Given the description of an element on the screen output the (x, y) to click on. 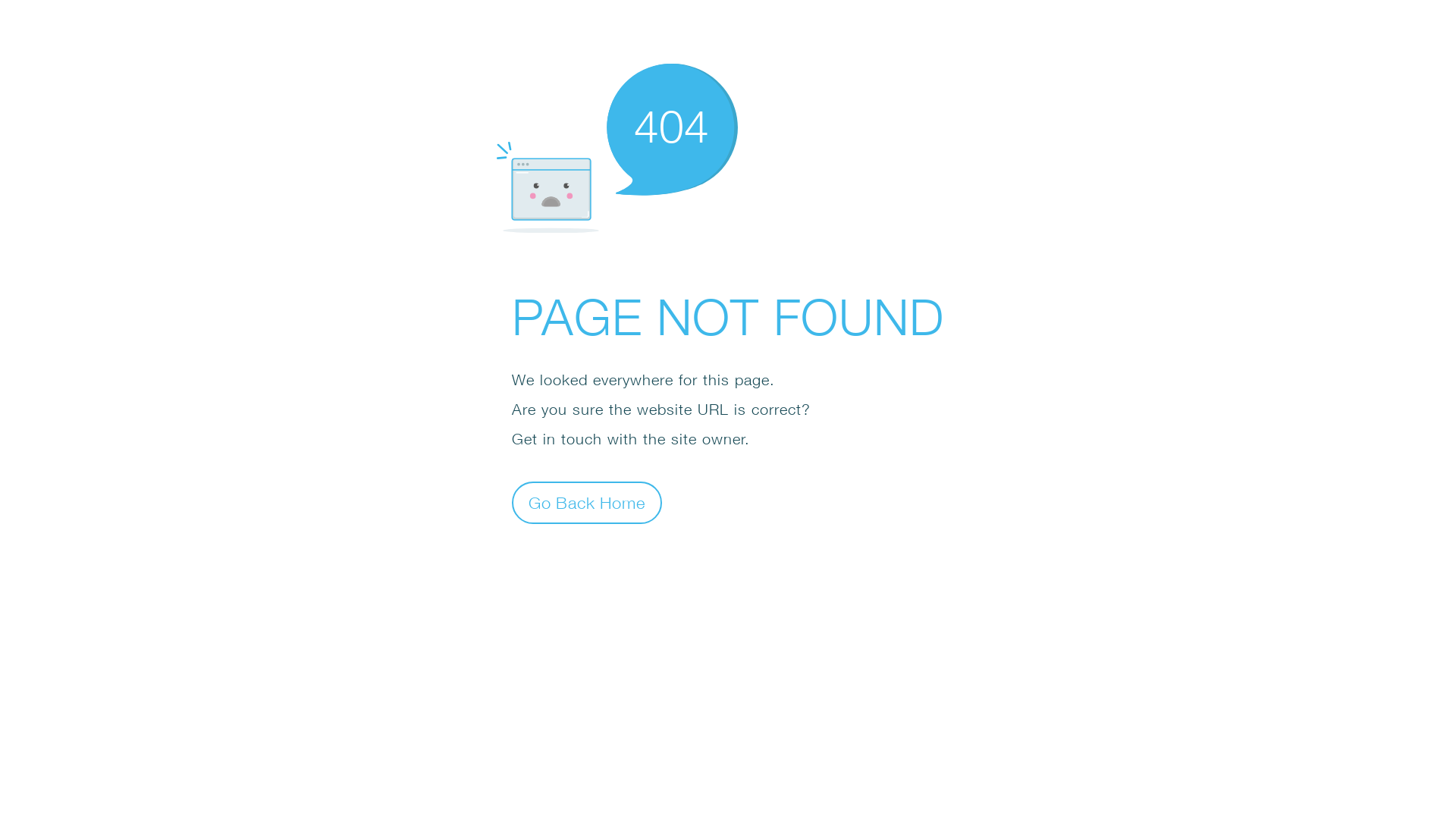
Go Back Home Element type: text (586, 502)
